Given the description of an element on the screen output the (x, y) to click on. 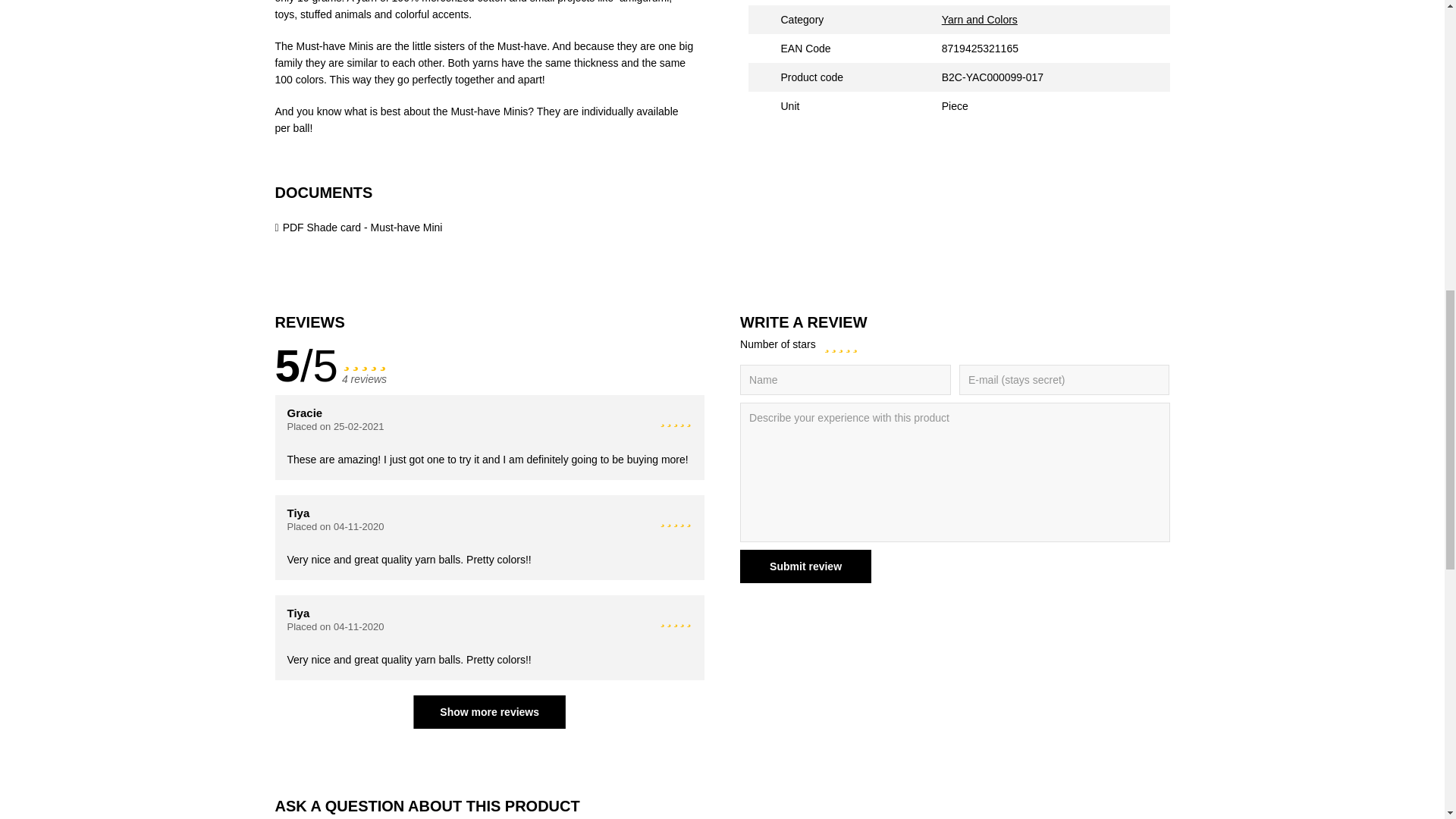
Yarn and Colors (979, 19)
PDF Shade card - Must-have Mini (358, 227)
Submit review (804, 566)
PDF Shade card - Must-have Mini (358, 227)
Yarn and Colors (979, 19)
